Given the description of an element on the screen output the (x, y) to click on. 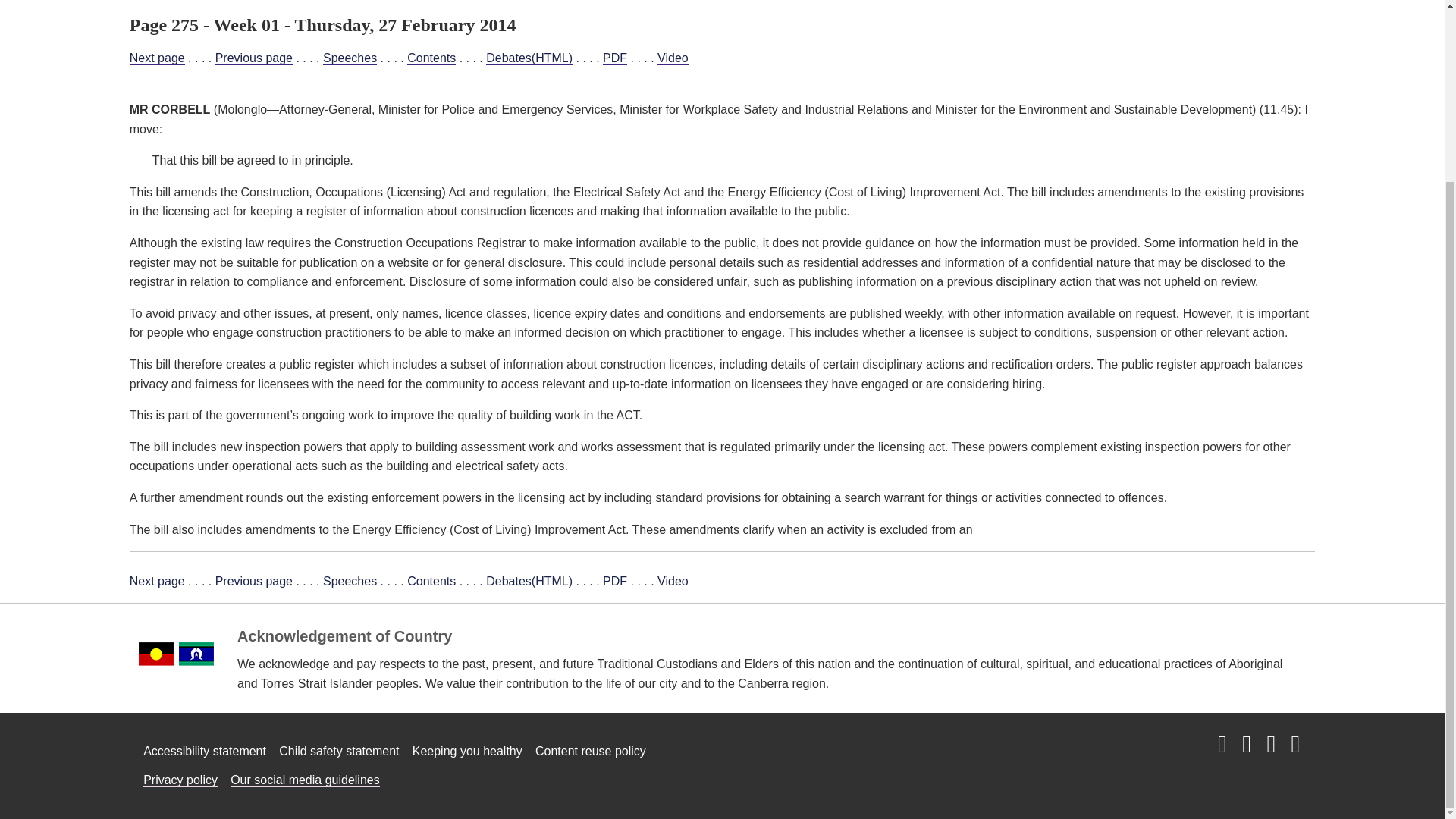
PDF (614, 58)
Contents (431, 58)
Link to Facebook (1245, 745)
Read our child safety committment (338, 751)
Read our privacy policy (179, 780)
Read about how we're keeping our Assembly healthy (467, 751)
Link to Instagram (1222, 745)
Child safety statement (338, 751)
Privacy policy (179, 780)
Video (673, 58)
Next page (156, 581)
Read our content sharing and re-use policy (590, 751)
Read our social media guidelines (305, 780)
Read our access and inclusion statement (204, 751)
Speeches (350, 581)
